Given the description of an element on the screen output the (x, y) to click on. 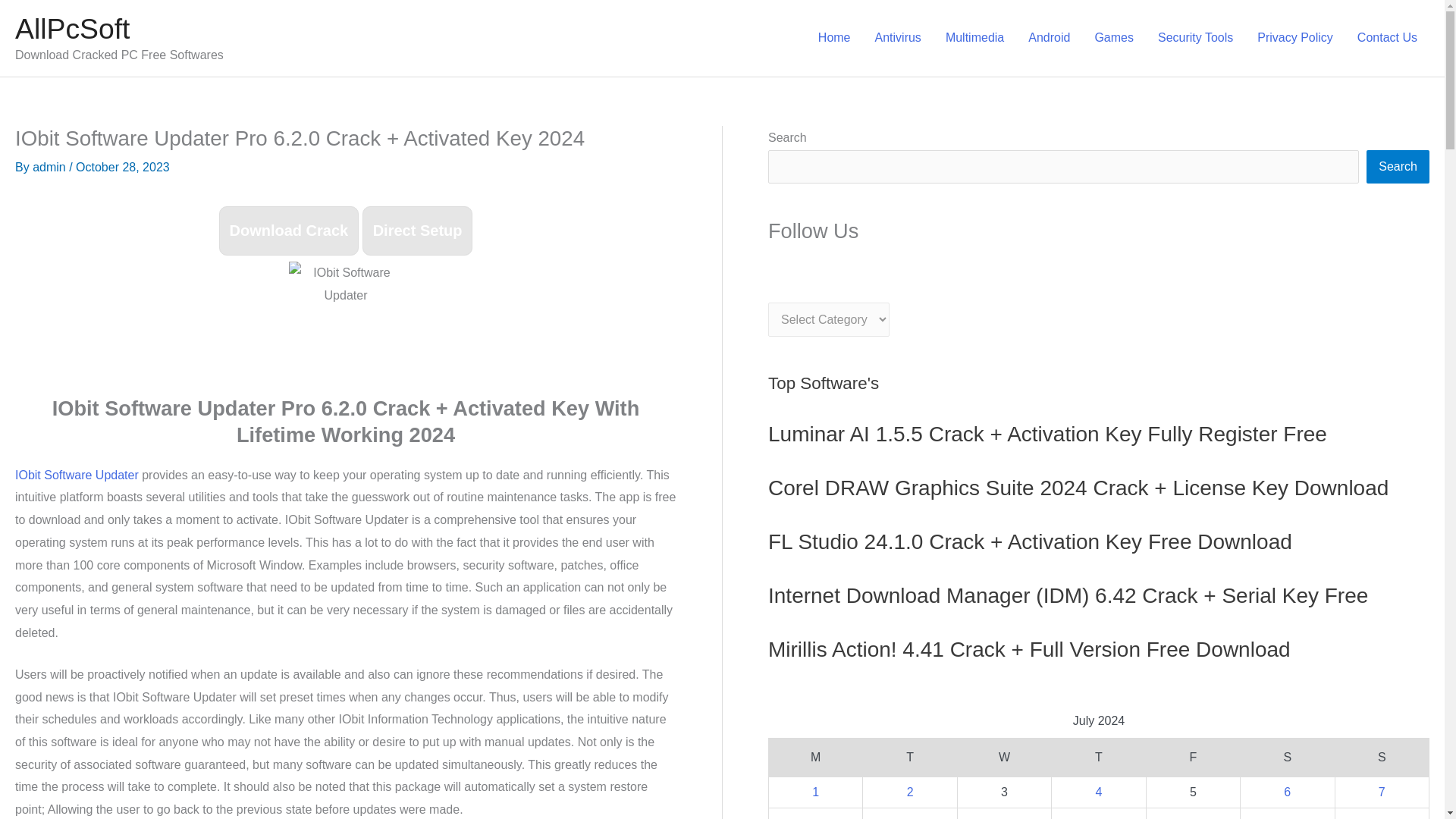
admin (50, 166)
Download Crack Direct Setup (346, 231)
Contact Us (1387, 37)
Games (1113, 37)
Download Crack (289, 230)
AllPcSoft (71, 29)
Multimedia (974, 37)
Android (1048, 37)
Privacy Policy (1294, 37)
Search (1398, 166)
Antivirus (898, 37)
IObit Software Updater (76, 474)
Home (834, 37)
Security Tools (1194, 37)
Direct Setup (417, 230)
